Given the description of an element on the screen output the (x, y) to click on. 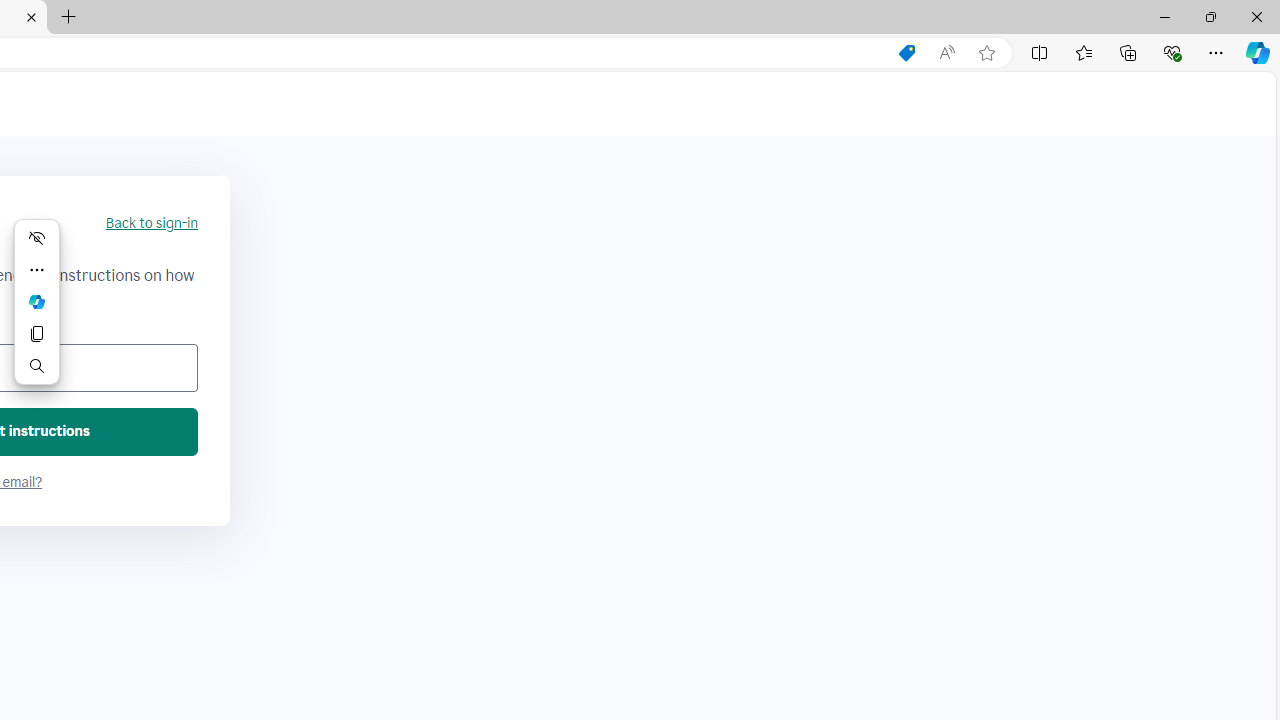
Back to sign-in (151, 223)
